Given the description of an element on the screen output the (x, y) to click on. 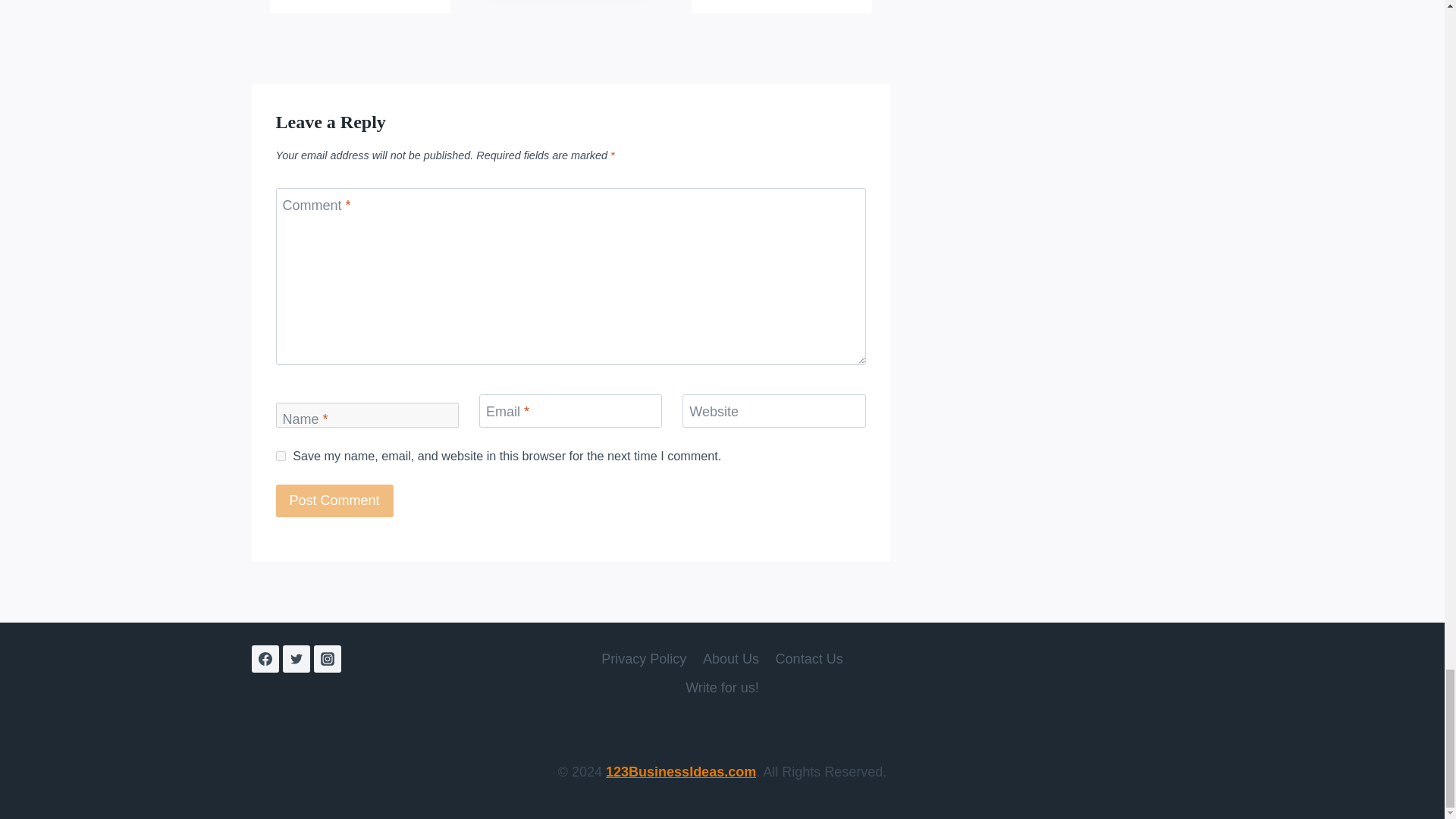
yes (280, 456)
Post Comment (334, 500)
